Given the description of an element on the screen output the (x, y) to click on. 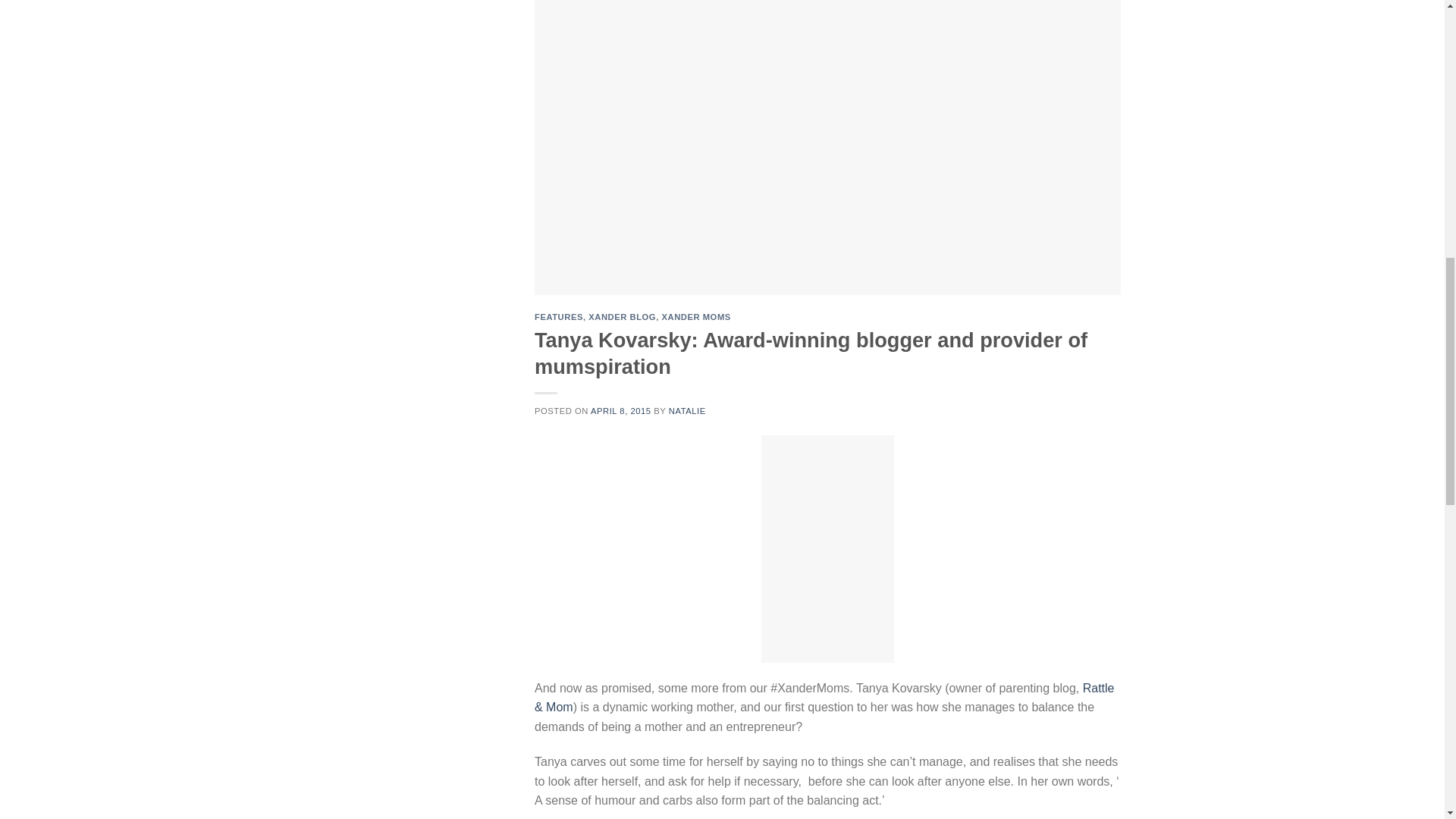
XANDER BLOG (622, 316)
FEATURES (558, 316)
APRIL 8, 2015 (620, 410)
XANDER MOMS (695, 316)
NATALIE (687, 410)
